Given the description of an element on the screen output the (x, y) to click on. 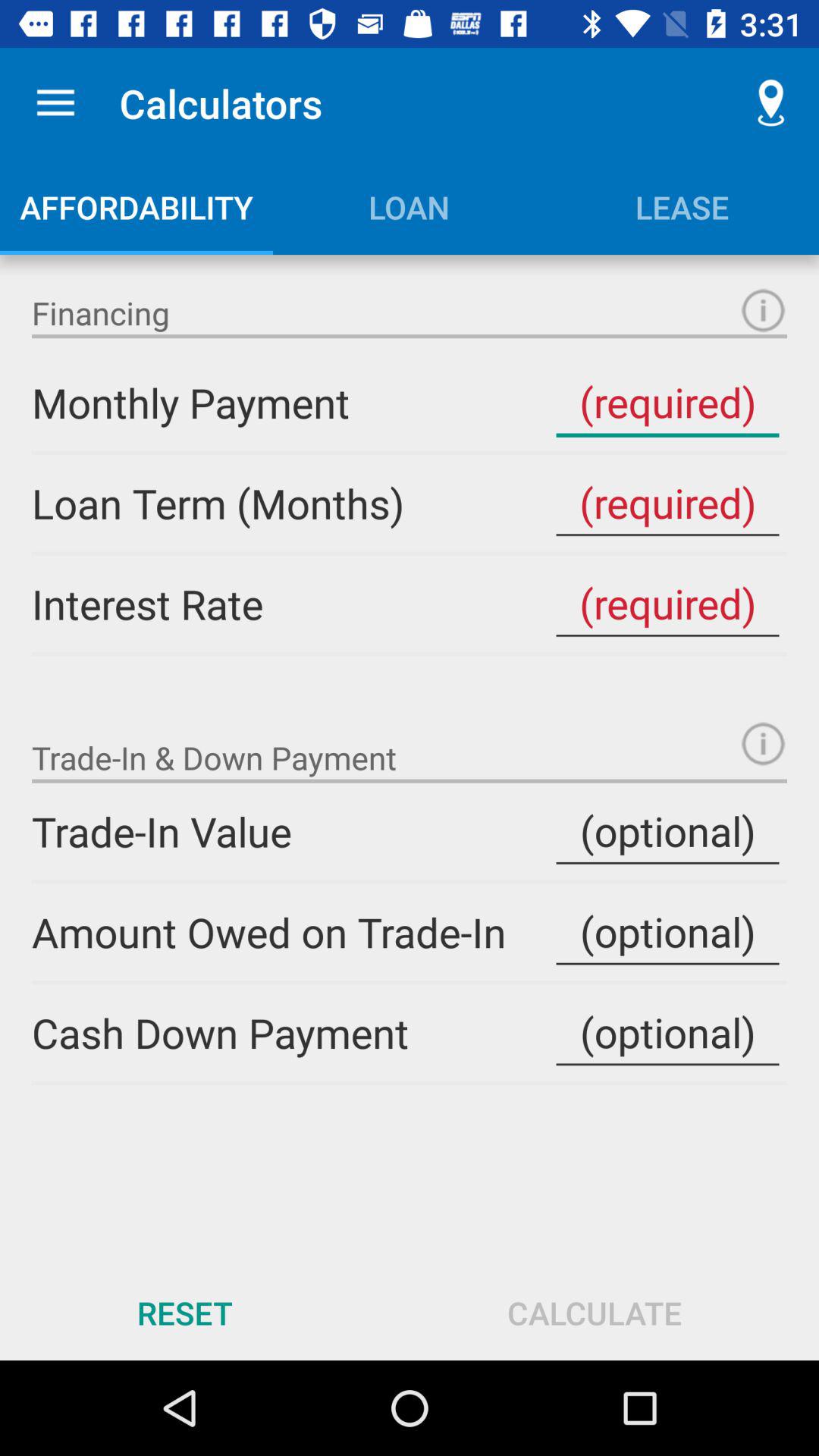
information option (763, 310)
